Given the description of an element on the screen output the (x, y) to click on. 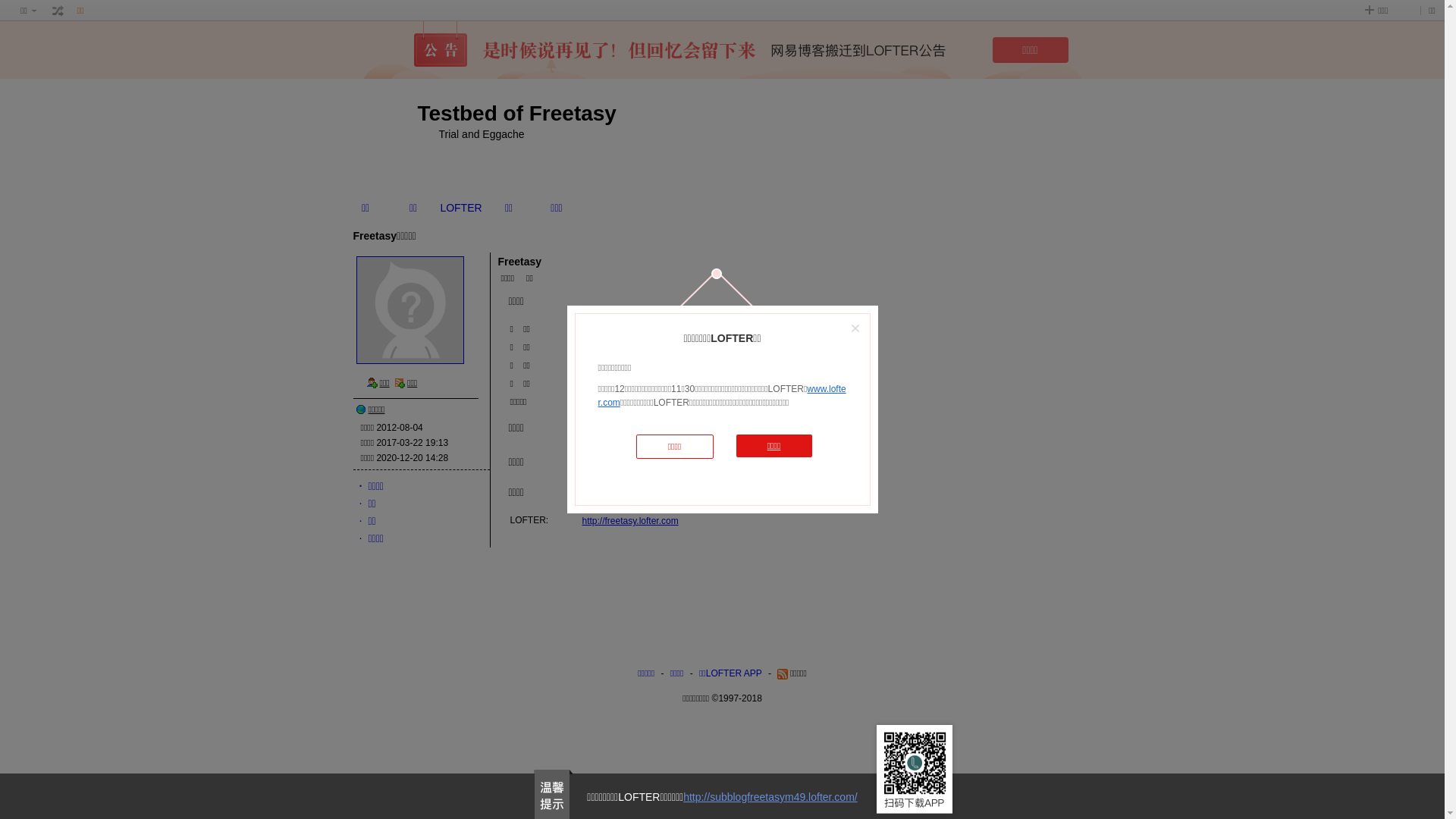
LOFTER Element type: text (460, 207)
  Element type: text (58, 10)
www.lofter.com Element type: text (721, 395)
11-02 Element type: text (595, 365)
http://freetasy.lofter.com Element type: text (630, 520)
http://subblogfreetasym49.lofter.com/ Element type: text (770, 796)
